Given the description of an element on the screen output the (x, y) to click on. 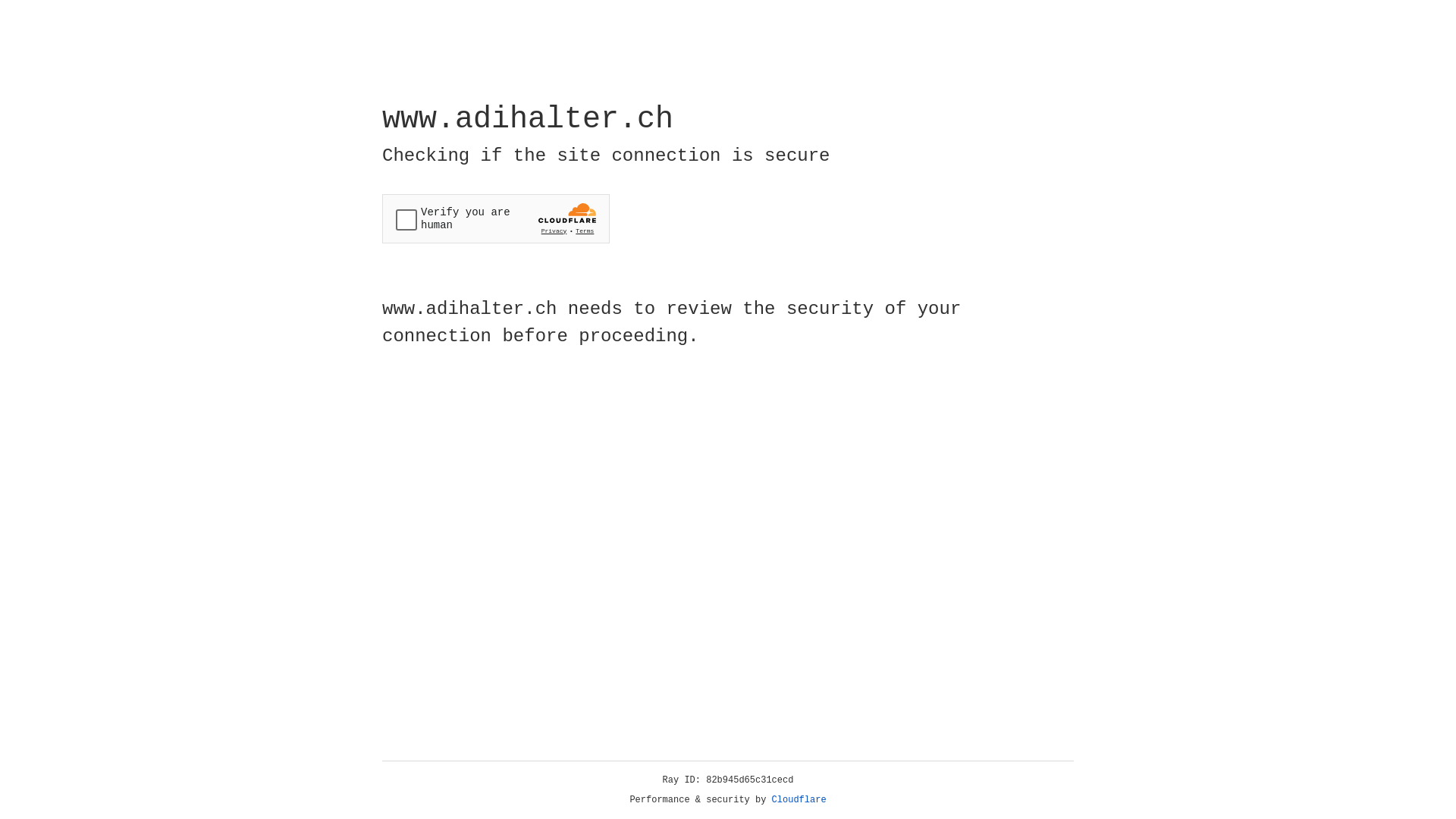
Widget containing a Cloudflare security challenge Element type: hover (495, 218)
Cloudflare Element type: text (798, 799)
